Given the description of an element on the screen output the (x, y) to click on. 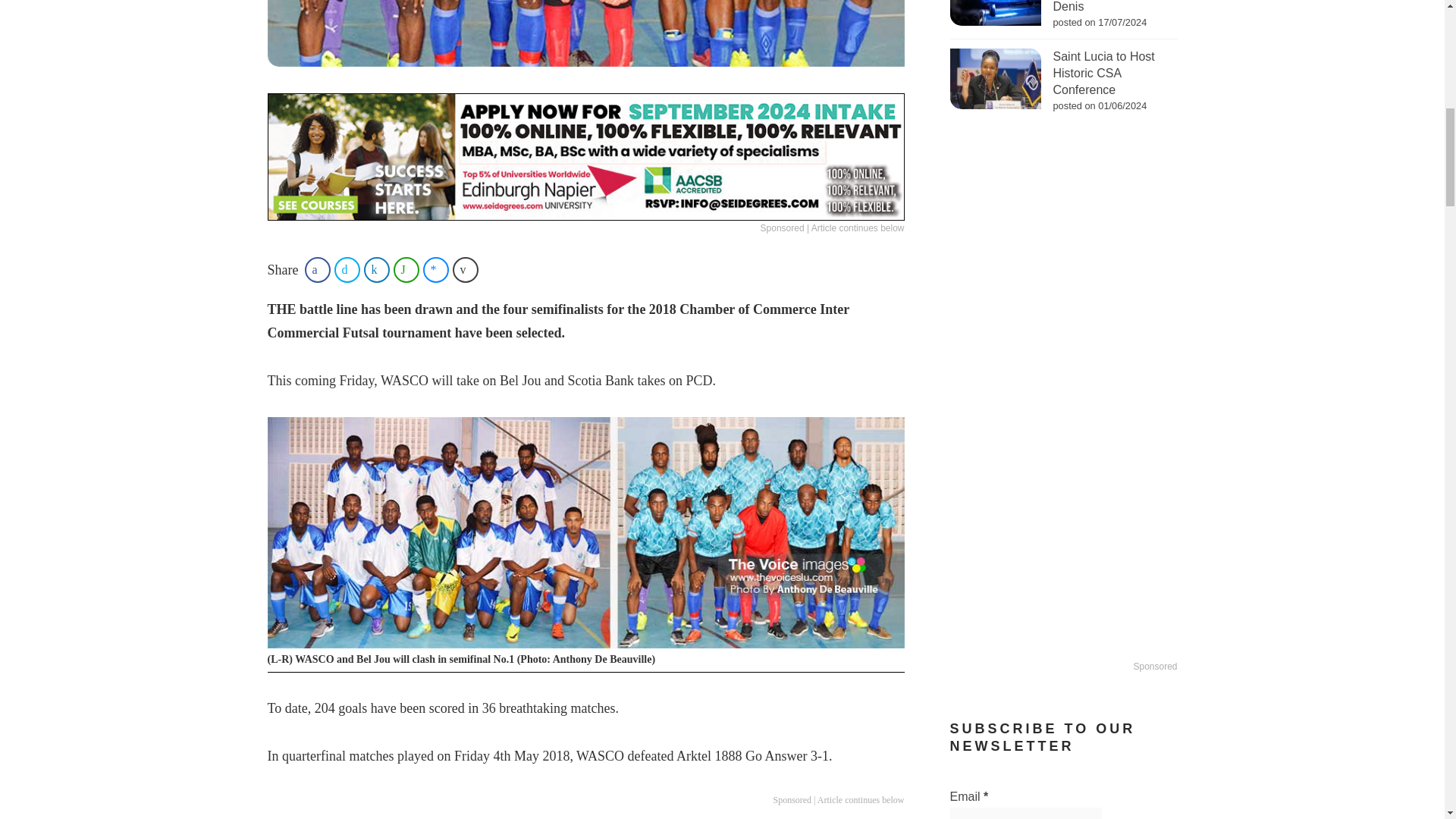
Share on Facebook (317, 269)
Share on LinkedIn (377, 269)
Share on Email (465, 269)
Share on Facebook Messenger (435, 269)
Share on WhatsApp (406, 269)
Share on Twitter (346, 269)
